Given the description of an element on the screen output the (x, y) to click on. 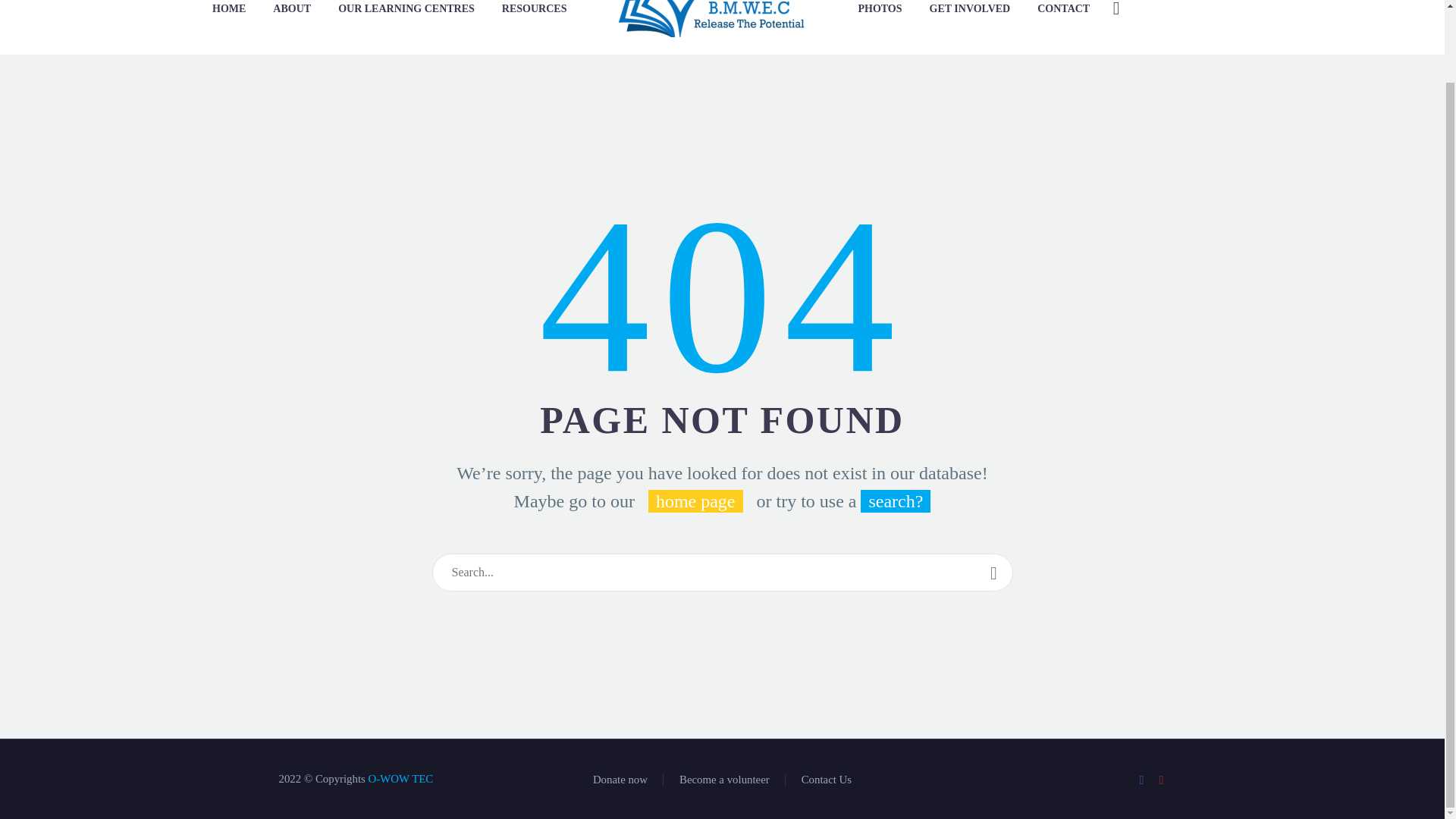
s (1268, 89)
search? (895, 500)
Contact Us (826, 779)
ABOUT (291, 8)
home page (694, 500)
RESOURCES (534, 8)
Donate now (619, 779)
CONTACT (1063, 8)
404 (722, 292)
Facebook (1141, 779)
